Given the description of an element on the screen output the (x, y) to click on. 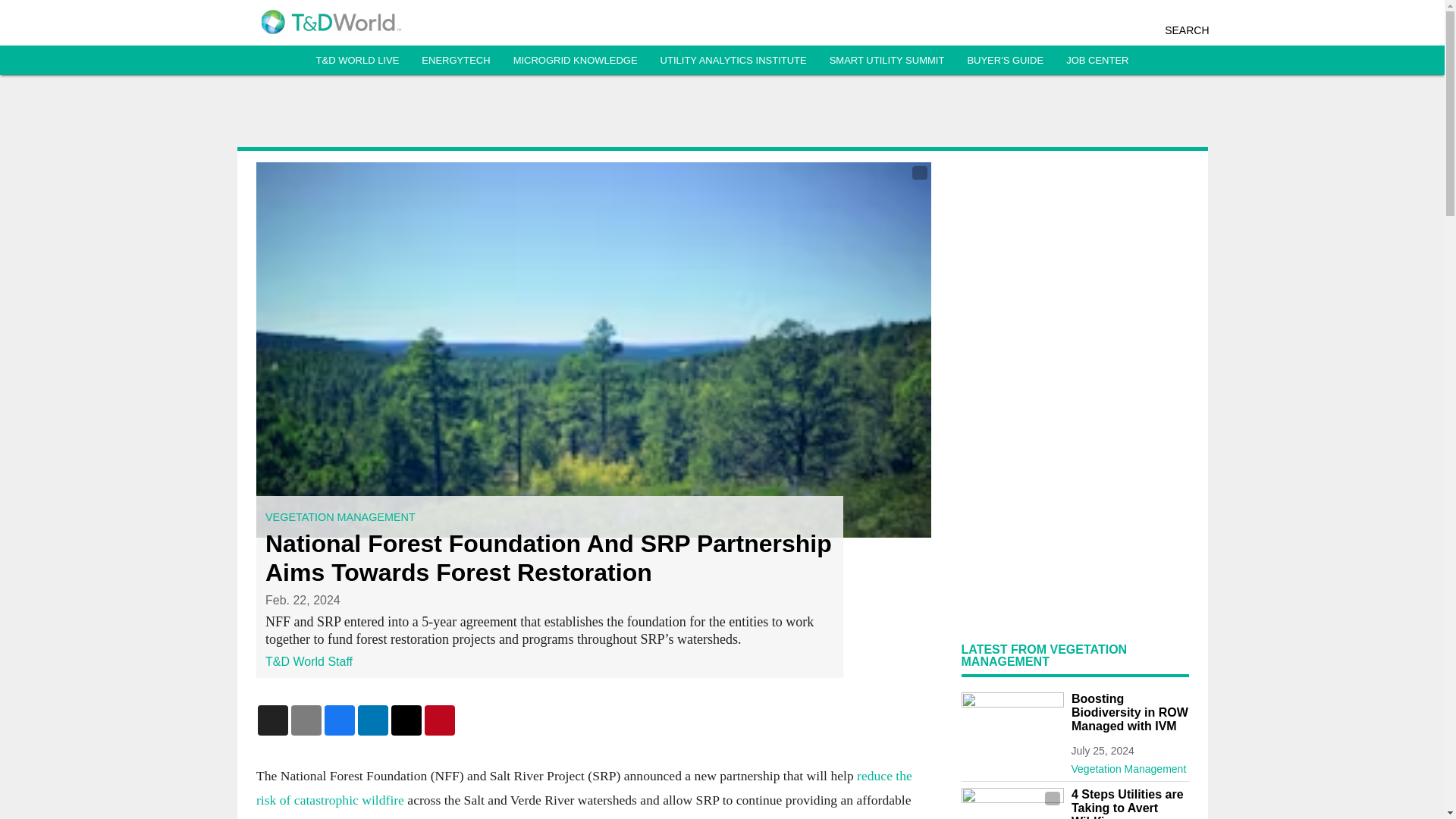
reduce the risk of catastrophic wildfire (584, 787)
UTILITY ANALYTICS INSTITUTE (733, 60)
MICROGRID KNOWLEDGE (575, 60)
ENERGYTECH (455, 60)
BUYER'S GUIDE (1004, 60)
SMART UTILITY SUMMIT (886, 60)
SEARCH (1186, 30)
JOB CENTER (1096, 60)
VEGETATION MANAGEMENT (339, 517)
